Given the description of an element on the screen output the (x, y) to click on. 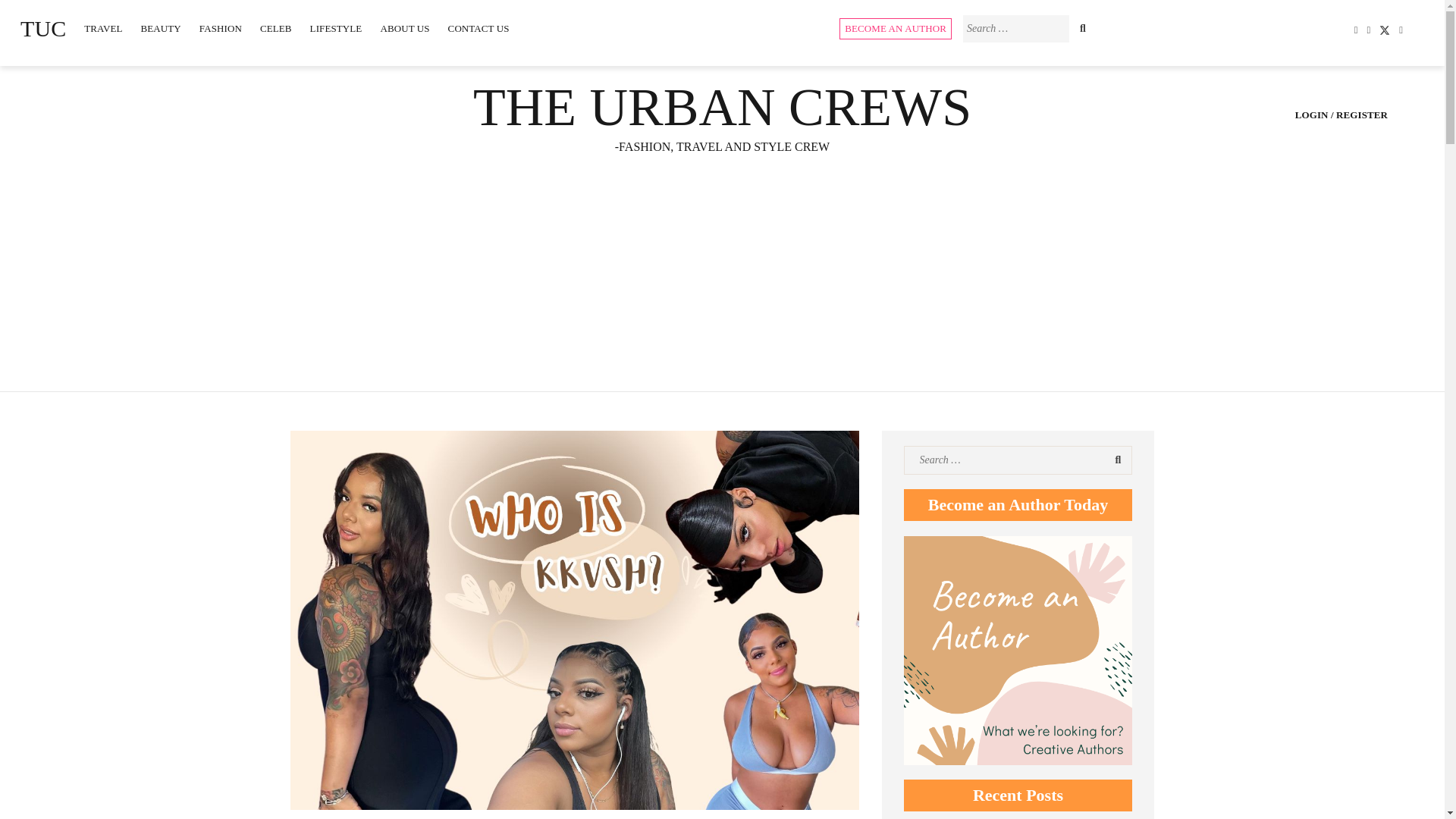
TRAVEL (103, 28)
CONTACT US (478, 28)
BECOME AN AUTHOR (896, 28)
THE URBAN CREWS (722, 106)
ABOUT US (404, 28)
FASHION (220, 28)
CELEB (275, 28)
BEAUTY (161, 28)
TUC (43, 28)
LIFESTYLE (336, 28)
